Given the description of an element on the screen output the (x, y) to click on. 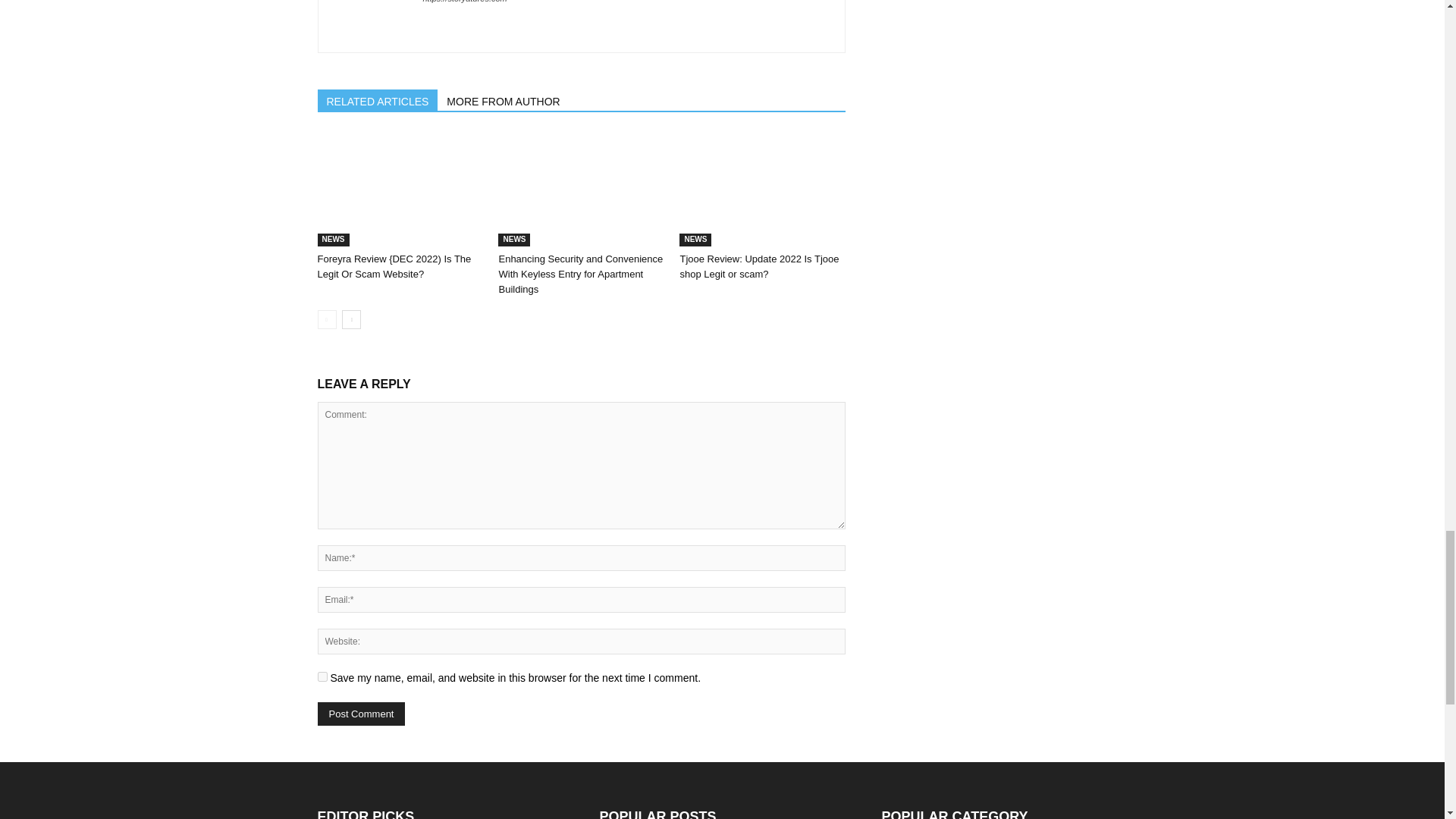
Post Comment (360, 713)
yes (321, 676)
